Given the description of an element on the screen output the (x, y) to click on. 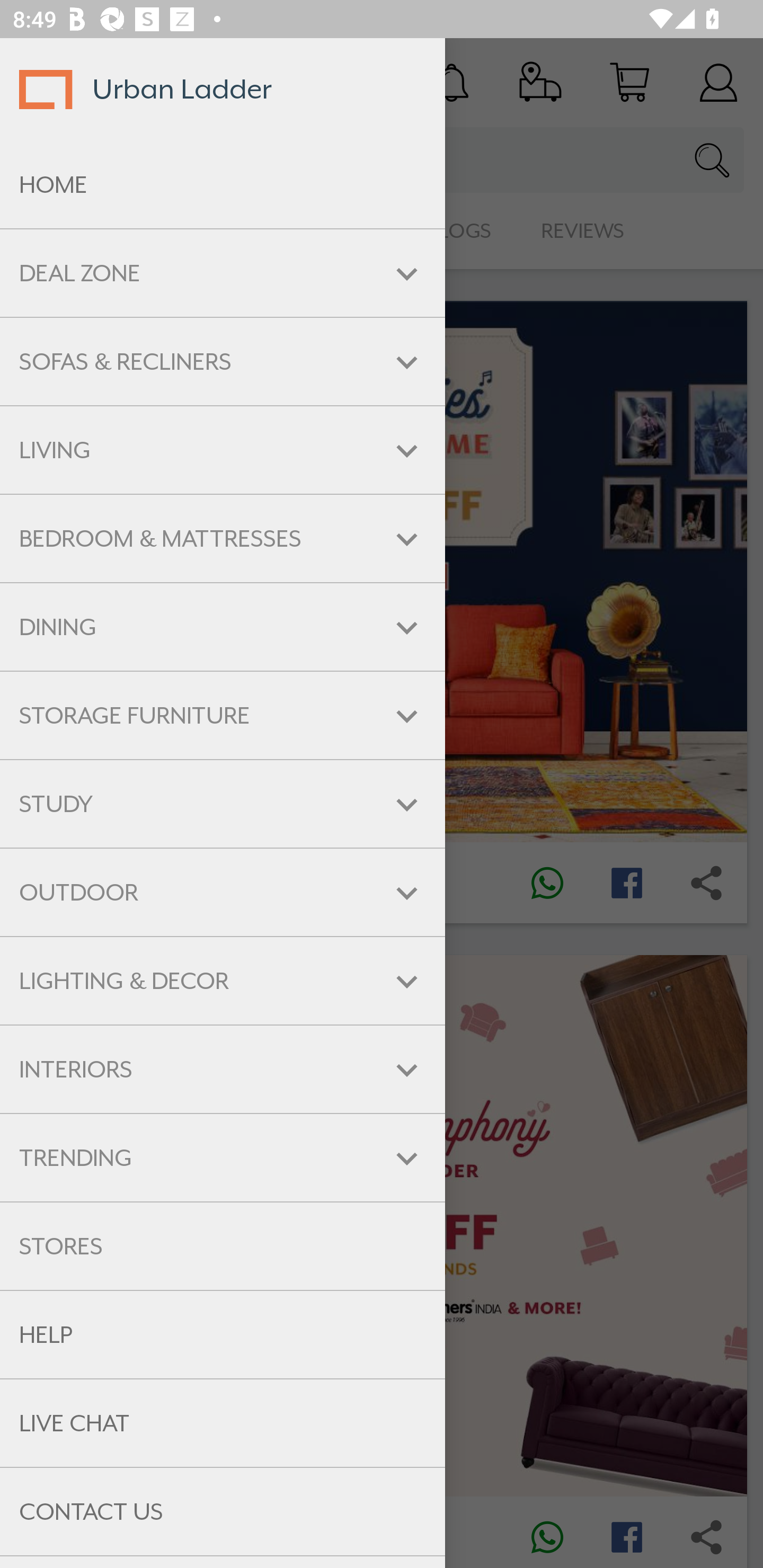
Urban Ladder (222, 89)
HOME (222, 184)
DEAL ZONE  (222, 273)
SOFAS & RECLINERS  (222, 361)
LIVING  (222, 450)
BEDROOM & MATTRESSES  (222, 538)
DINING  (222, 627)
STORAGE FURNITURE  (222, 715)
STUDY  (222, 803)
OUTDOOR  (222, 892)
LIGHTING & DECOR  (222, 980)
INTERIORS  (222, 1069)
TRENDING  (222, 1157)
STORES (222, 1246)
HELP (222, 1334)
LIVE CHAT (222, 1422)
CONTACT US (222, 1512)
